Given the description of an element on the screen output the (x, y) to click on. 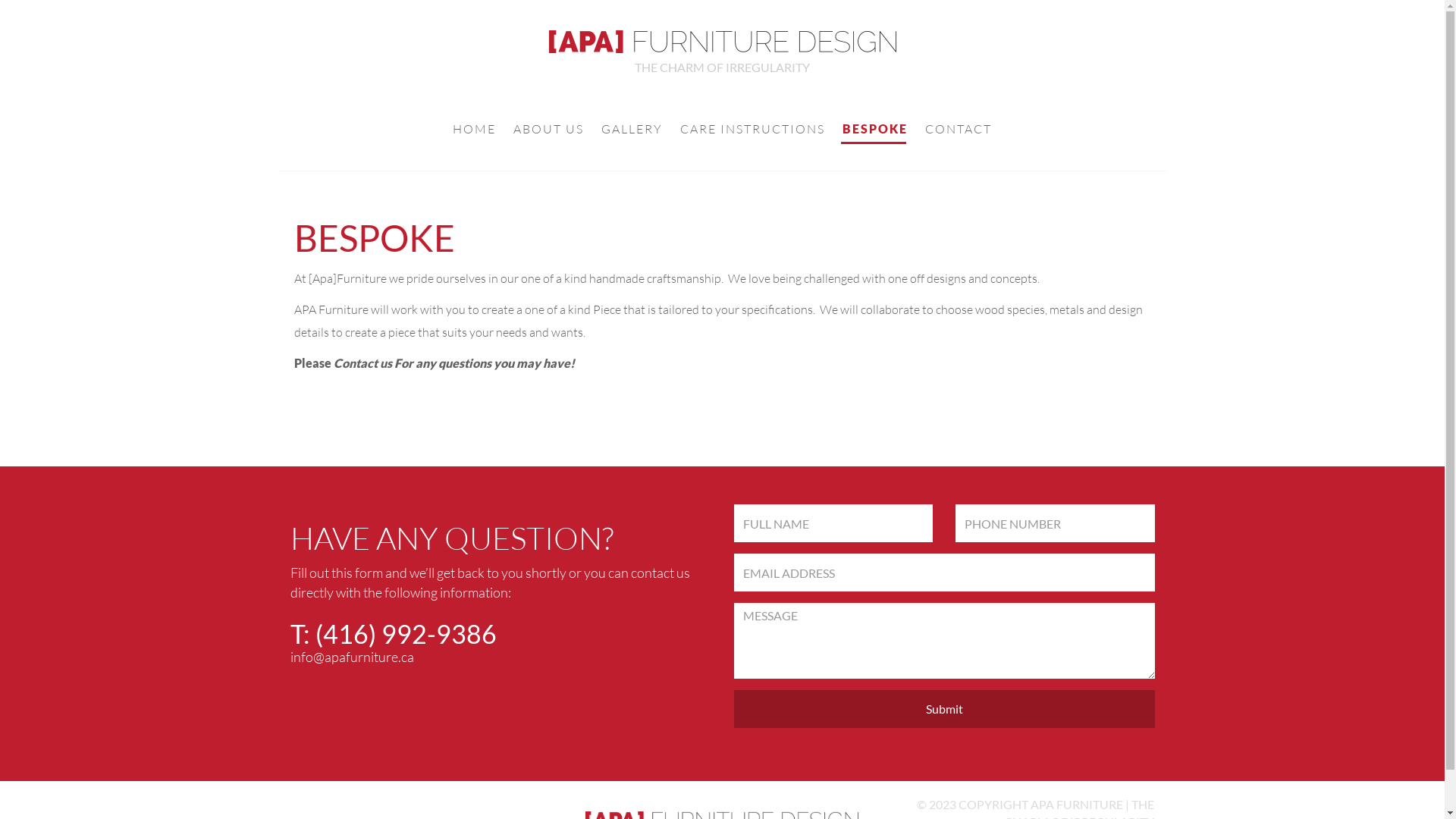
HOME Element type: text (473, 130)
ABOUT US Element type: text (548, 130)
Submit Element type: text (944, 709)
CARE INSTRUCTIONS Element type: text (752, 130)
BESPOKE Element type: text (874, 130)
CONTACT Element type: text (958, 130)
GALLERY Element type: text (631, 130)
